Given the description of an element on the screen output the (x, y) to click on. 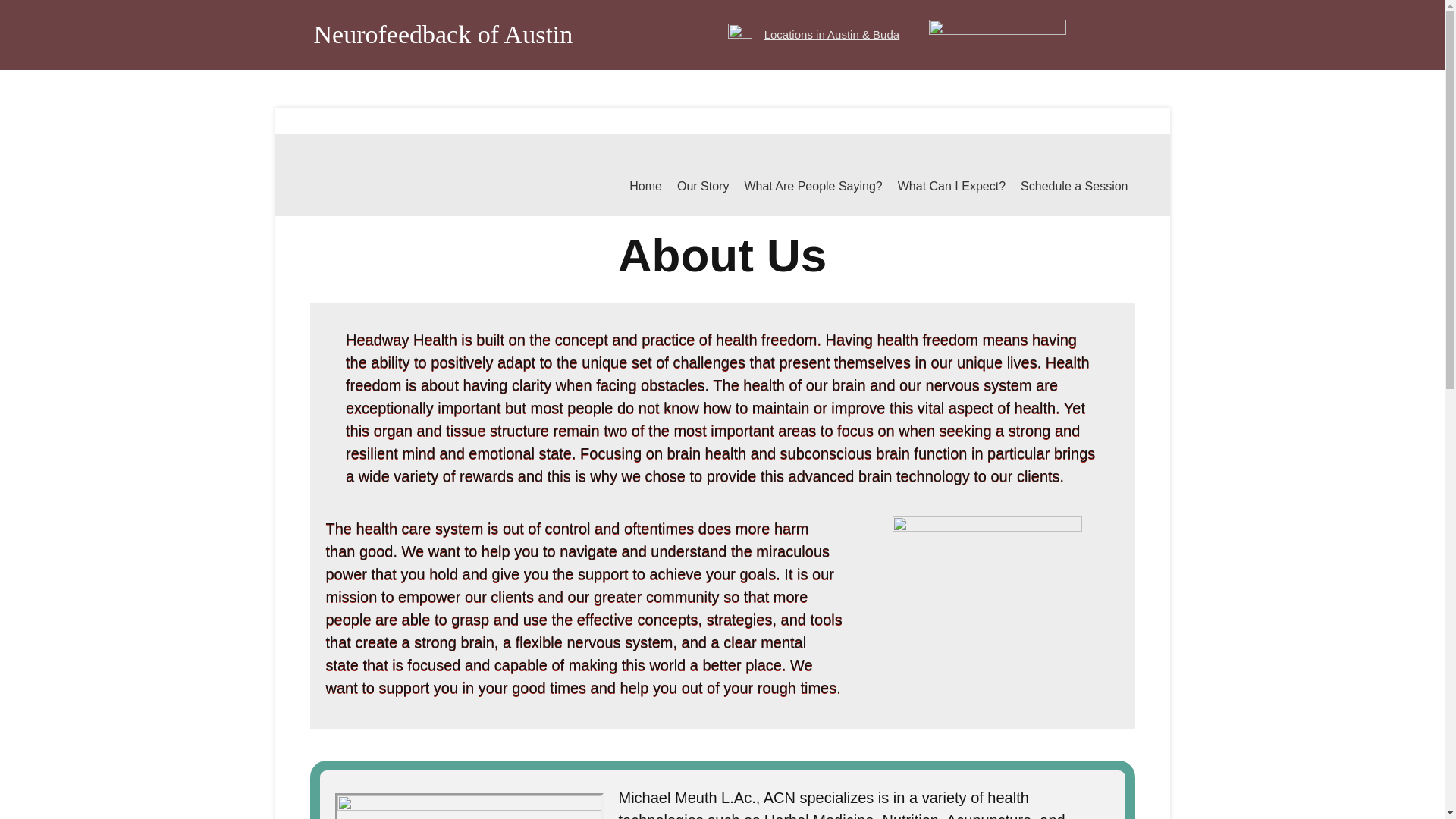
What Are People Saying? (813, 186)
Home (645, 186)
bizbeauty-icon1 (740, 34)
Our Story (703, 186)
Schedule a Session (1073, 186)
What Can I Expect? (952, 186)
